Given the description of an element on the screen output the (x, y) to click on. 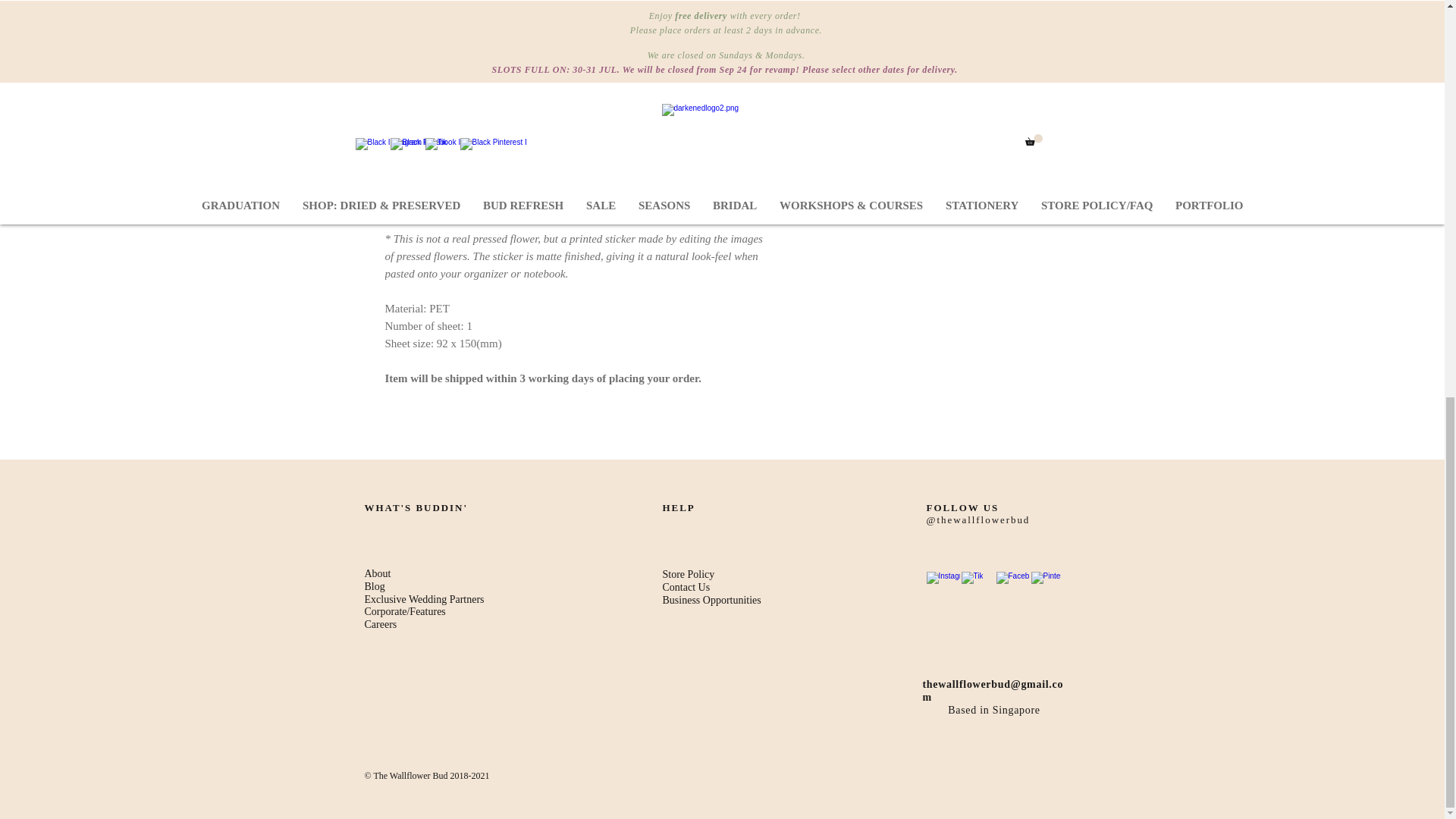
Exclusive Wedding Partners (423, 599)
About (377, 573)
Blog  (375, 586)
